Given the description of an element on the screen output the (x, y) to click on. 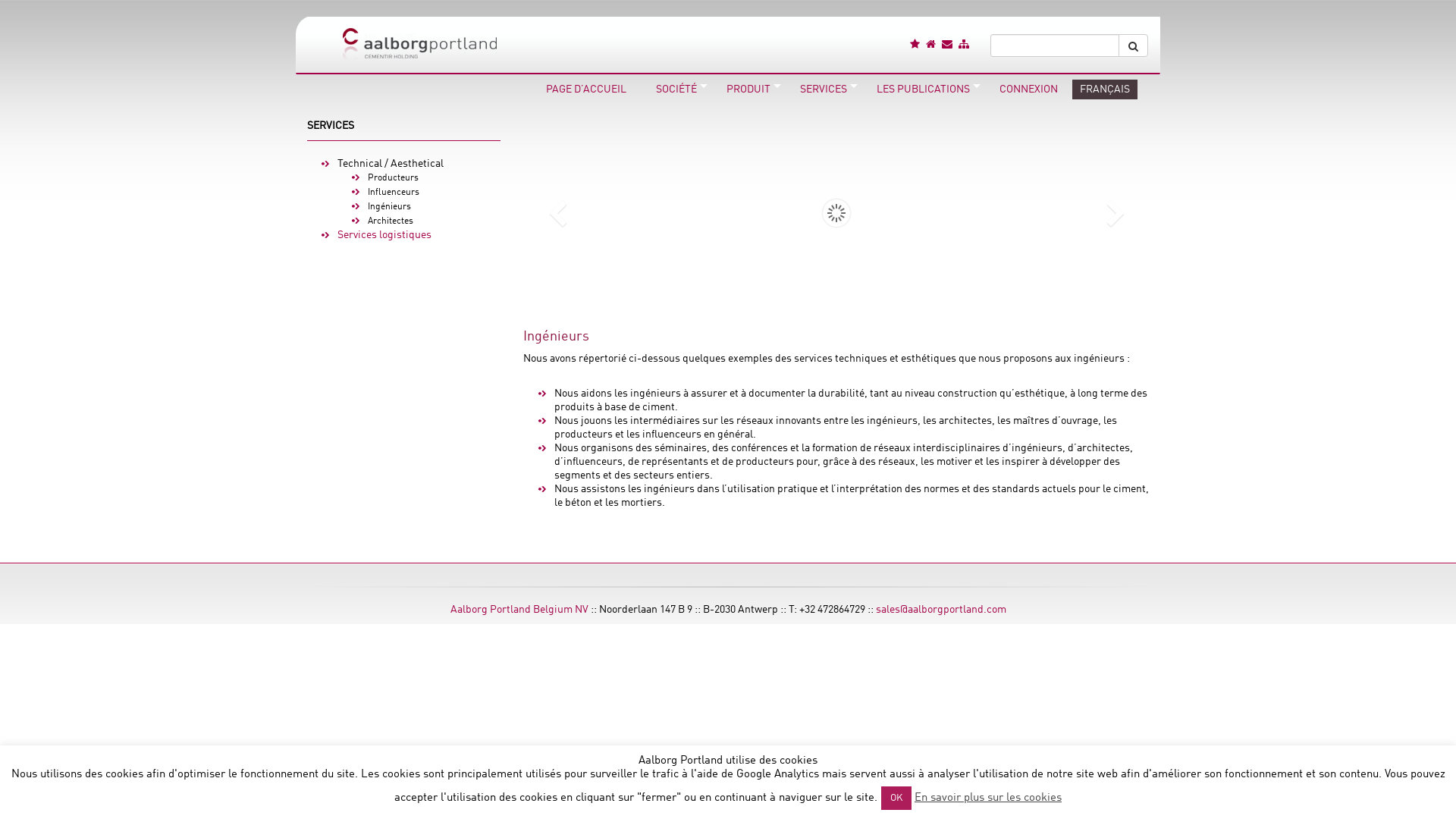
Producteurs Element type: text (392, 178)
Services logistiques Element type: text (384, 234)
Influenceurs Element type: text (393, 192)
SERVICES Element type: text (823, 89)
En savoir plus sur les cookies Element type: text (987, 797)
Technical / Aesthetical Element type: text (390, 163)
SERVICES Element type: text (330, 125)
Architectes Element type: text (390, 221)
LES PUBLICATIONS Element type: text (923, 89)
sales@aalborgportland.com Element type: text (940, 609)
OK Element type: text (896, 797)
PRODUIT Element type: text (748, 89)
CONNEXION Element type: text (1028, 89)
Aalborg Portland Belgium NV Element type: text (519, 609)
